Given the description of an element on the screen output the (x, y) to click on. 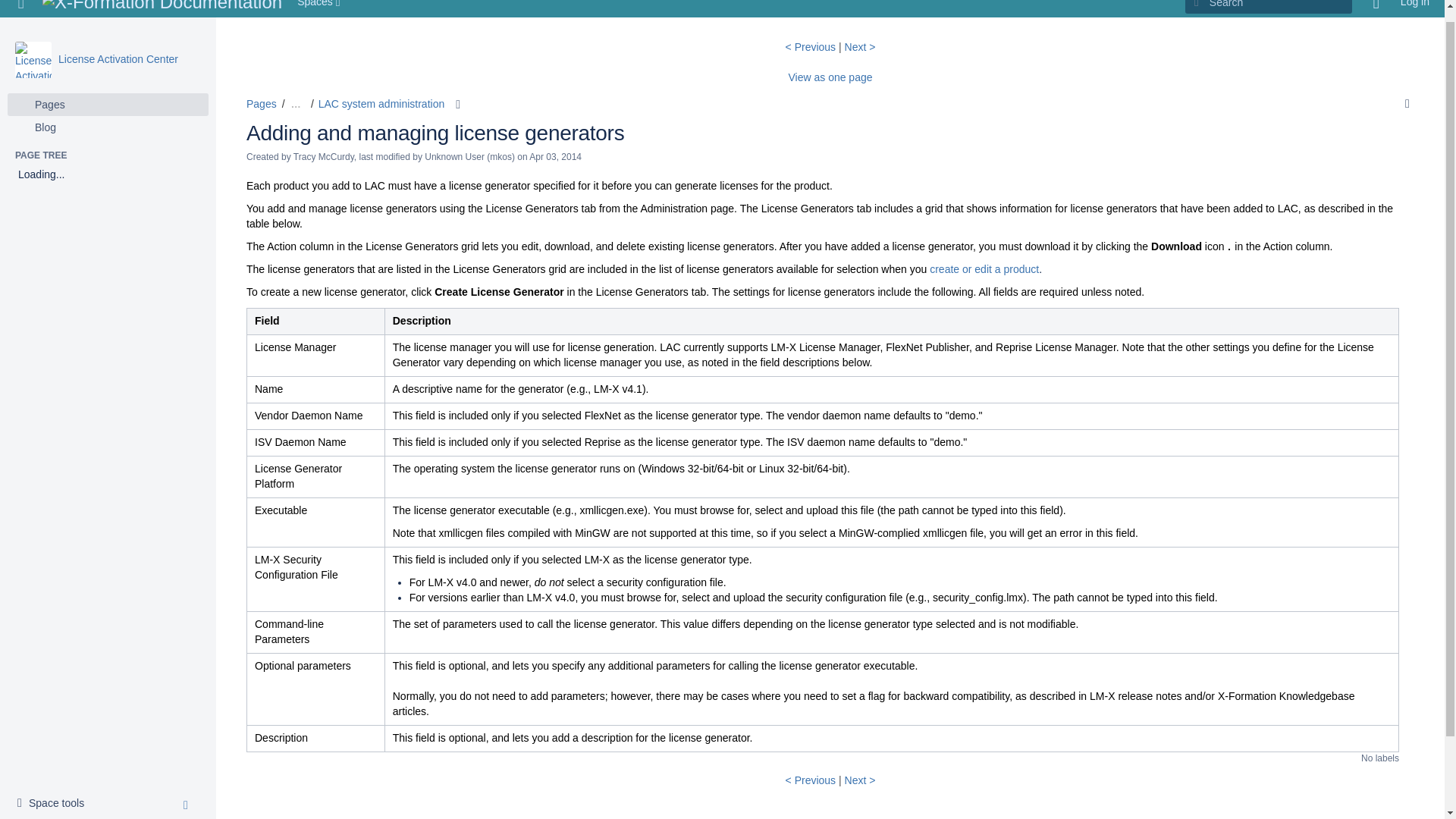
Log in (1415, 8)
Help (1376, 8)
License Activation Center (117, 46)
License Activation Center (117, 46)
Pages (32, 46)
Pages (261, 103)
Help (107, 91)
Linked Applications (1376, 8)
Spaces (54, 790)
Blog (20, 8)
View as one page (319, 8)
Spaces (107, 114)
